Given the description of an element on the screen output the (x, y) to click on. 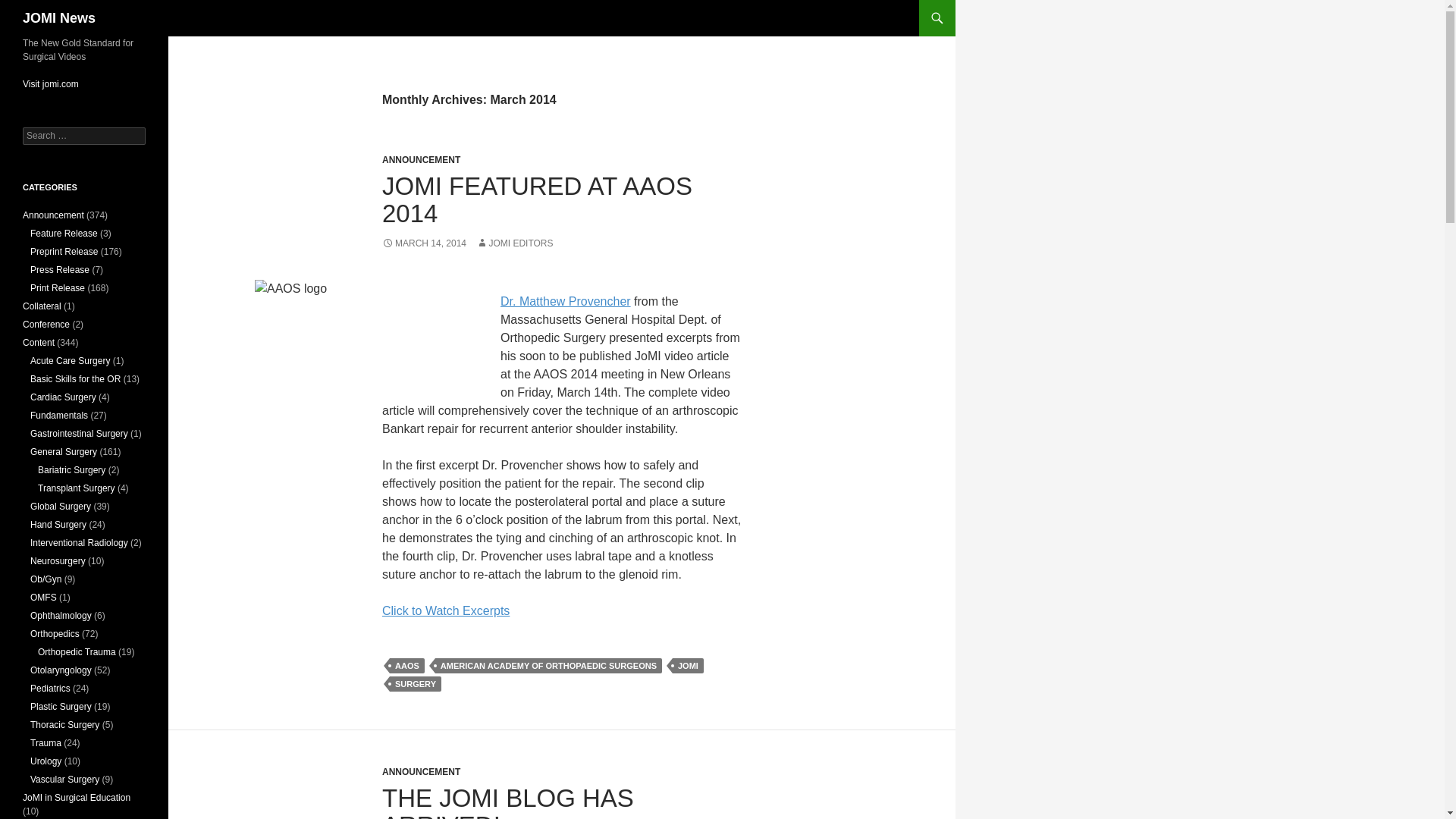
General Surgery (63, 451)
Basic Skills for the OR (75, 378)
Dr. Matthew Provencher (565, 300)
Interventional Radiology (79, 542)
Search (30, 8)
ANNOUNCEMENT (420, 771)
AAOS (407, 665)
Transplant Surgery (76, 488)
AMERICAN ACADEMY OF ORTHOPAEDIC SURGEONS (548, 665)
Fundamentals (58, 415)
JOMI News (59, 18)
Click to Watch Excerpts (445, 610)
Conference (46, 324)
Announcement (53, 214)
ANNOUNCEMENT (420, 159)
